Given the description of an element on the screen output the (x, y) to click on. 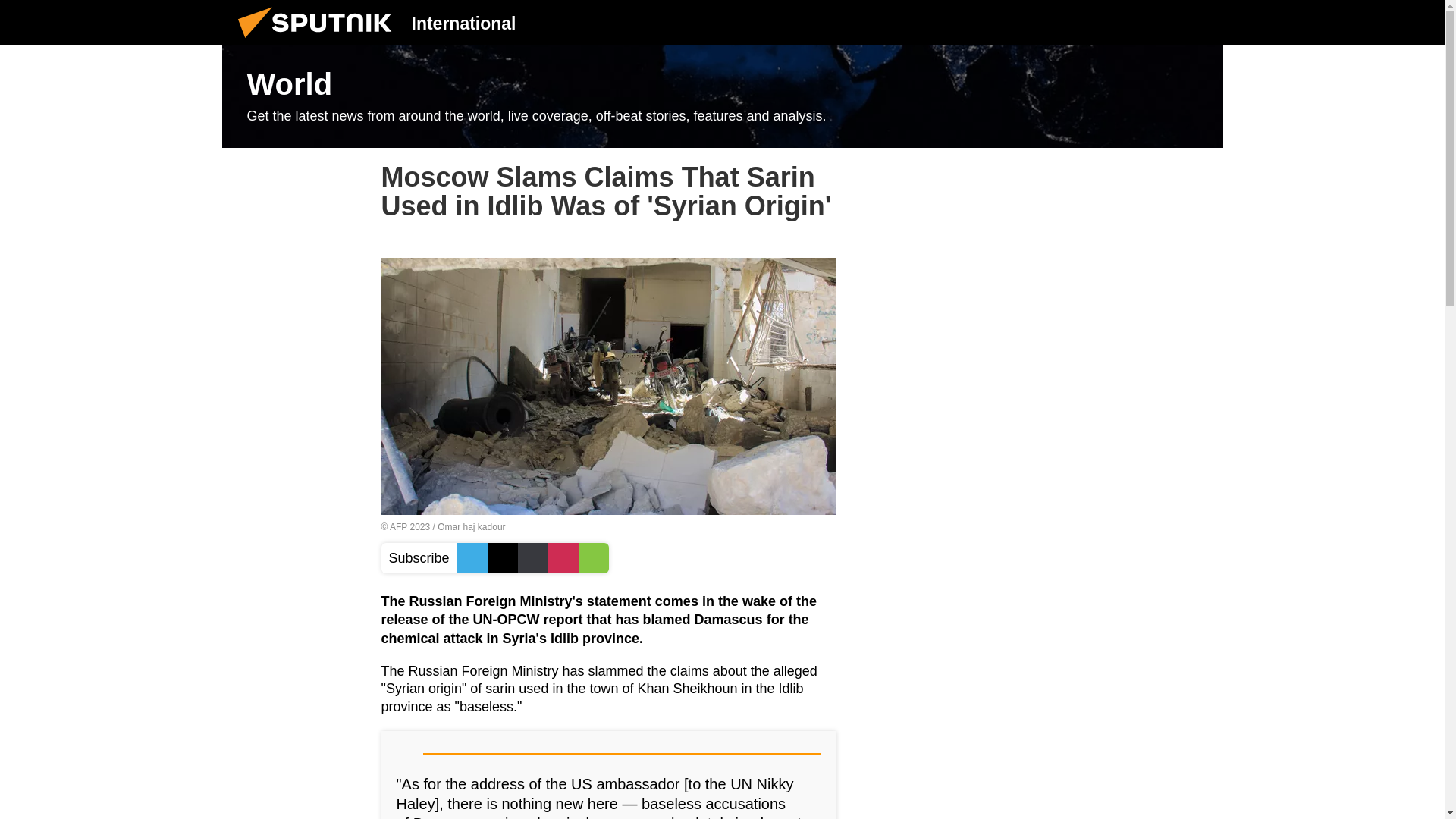
World (722, 96)
Chats (1199, 22)
Sputnik International (319, 41)
Authorization (1123, 22)
